Given the description of an element on the screen output the (x, y) to click on. 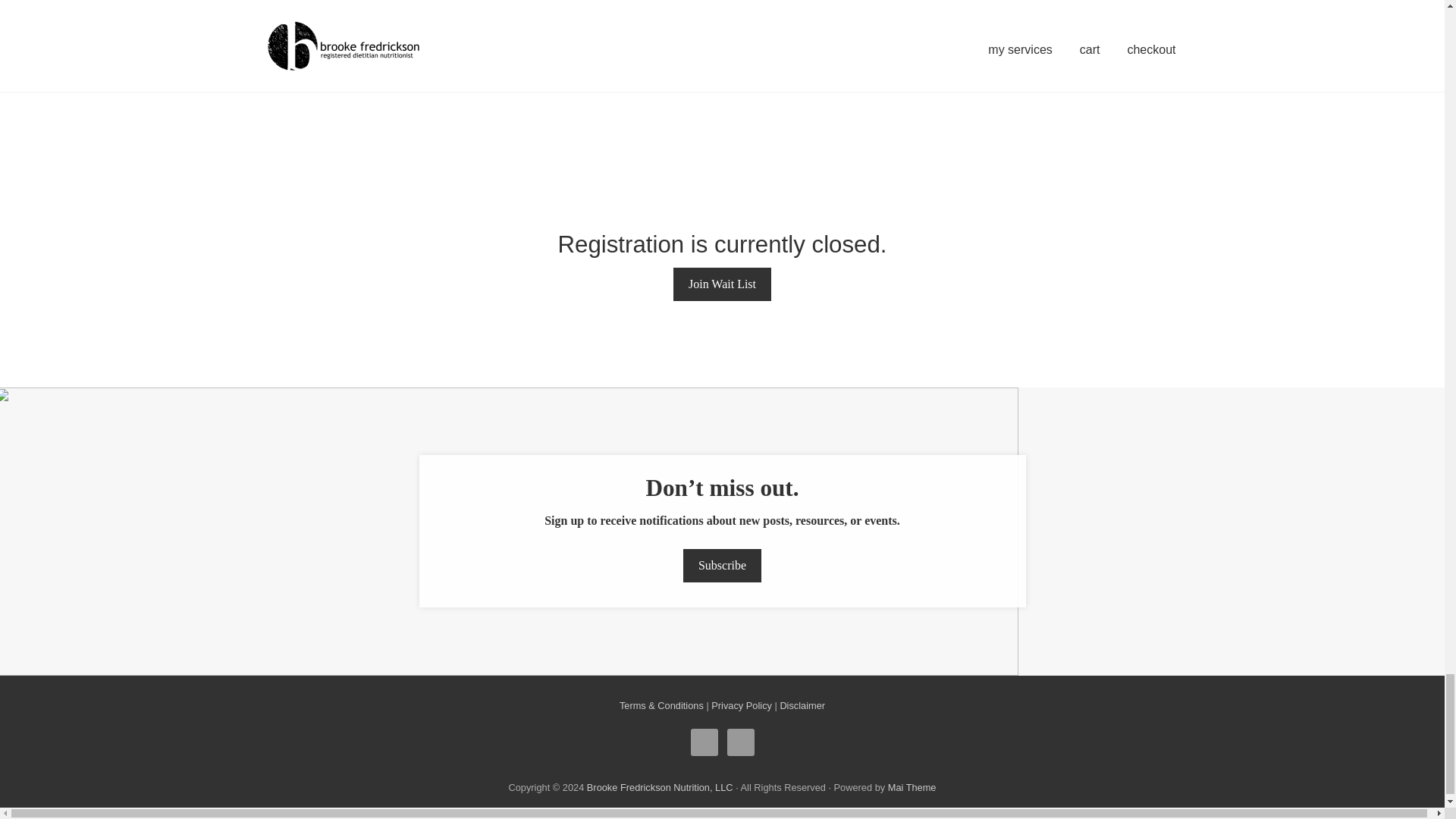
Disclaimer (801, 705)
Subscribe (721, 565)
Mai Theme (912, 787)
Brooke Fredrickson Nutrition, LLC (659, 787)
Brooke Fredrickson Nutrition, LLC (659, 787)
Privacy Policy (741, 705)
Join Wait List (721, 284)
